Given the description of an element on the screen output the (x, y) to click on. 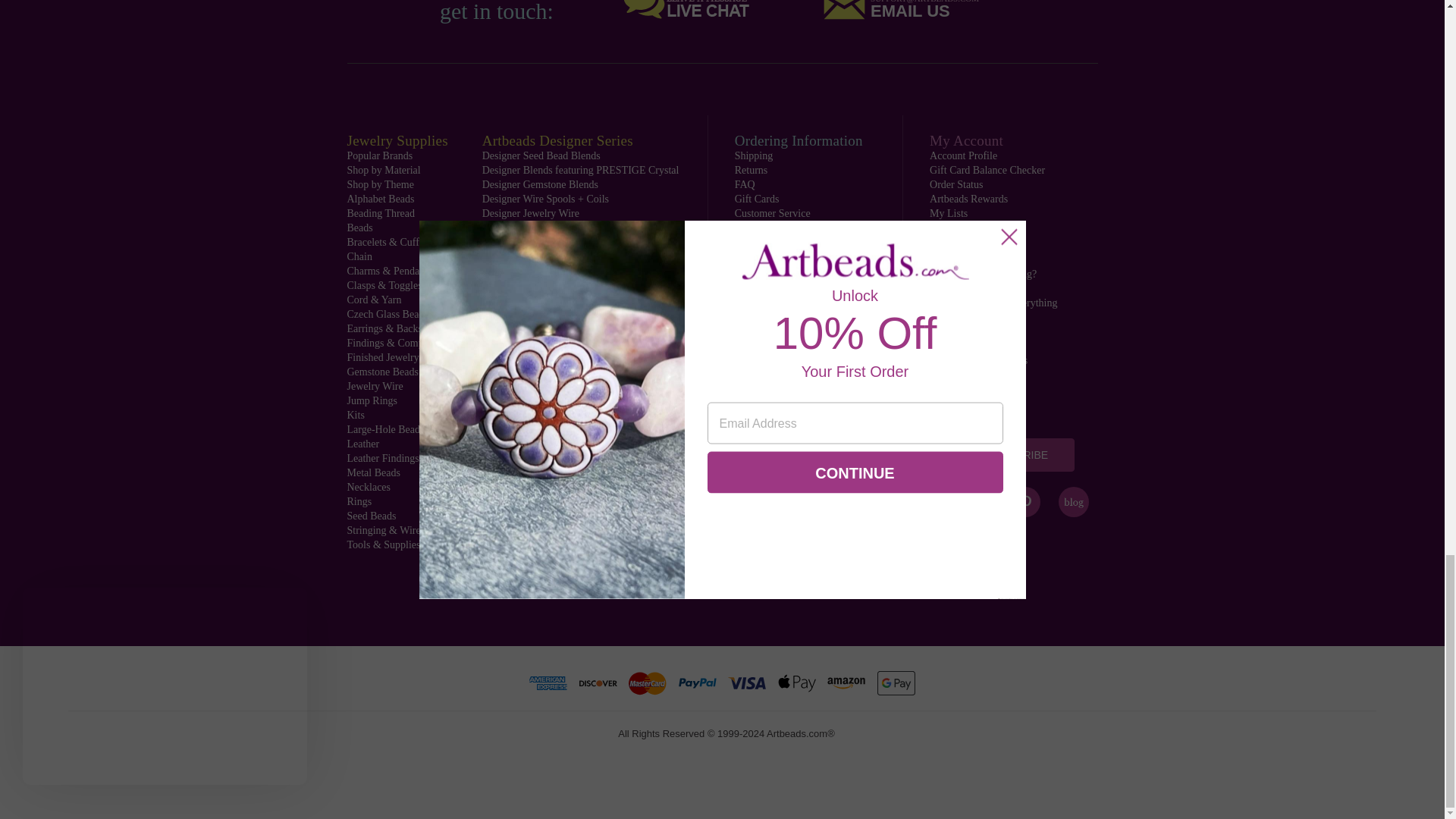
Subscribe (1017, 455)
